Given the description of an element on the screen output the (x, y) to click on. 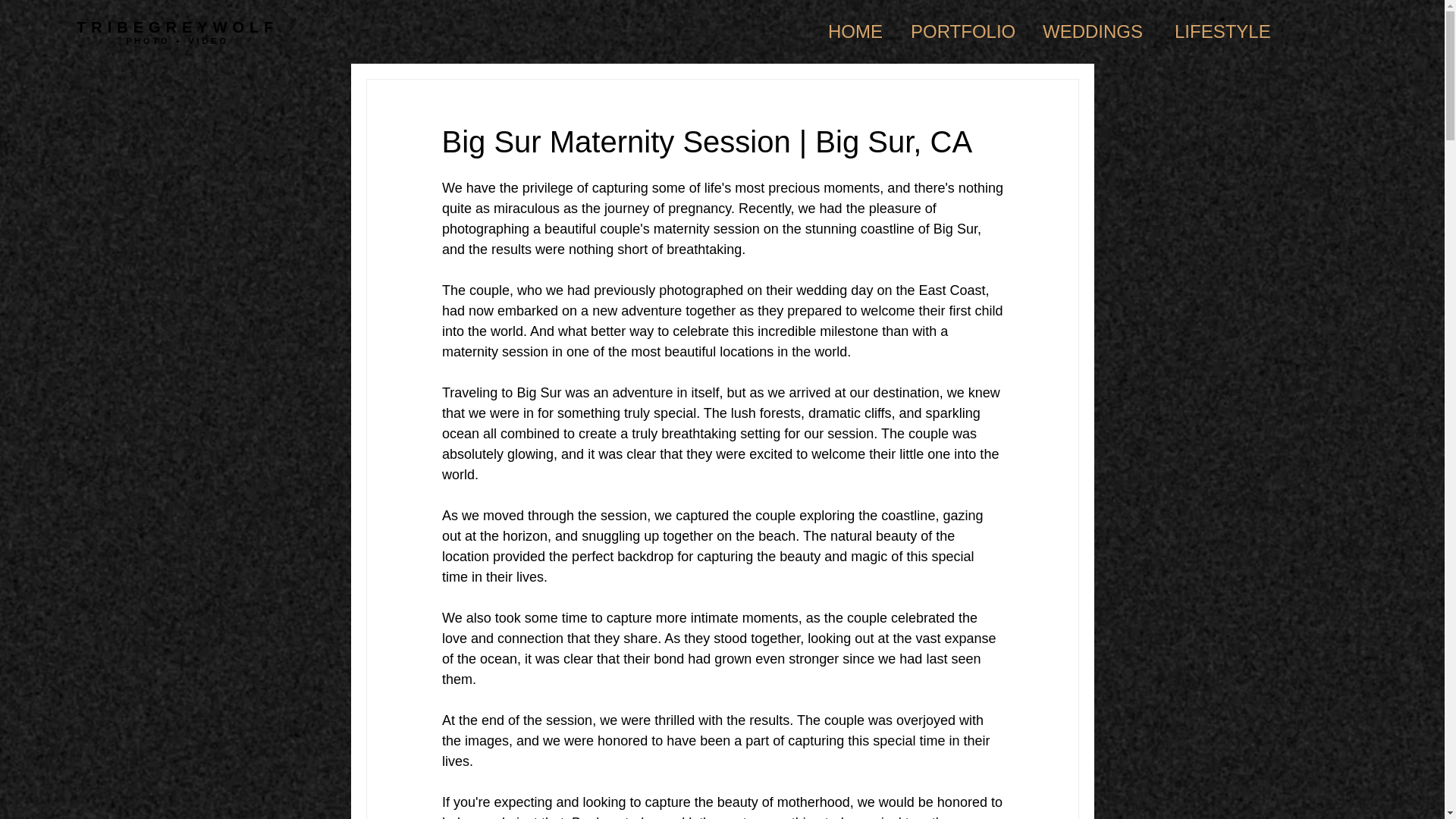
TRIBEGREYWOLF (178, 27)
PORTFOLIO (964, 31)
WEDDINGS (1096, 31)
HOME (857, 31)
LIFESTYLE (1222, 31)
